Given the description of an element on the screen output the (x, y) to click on. 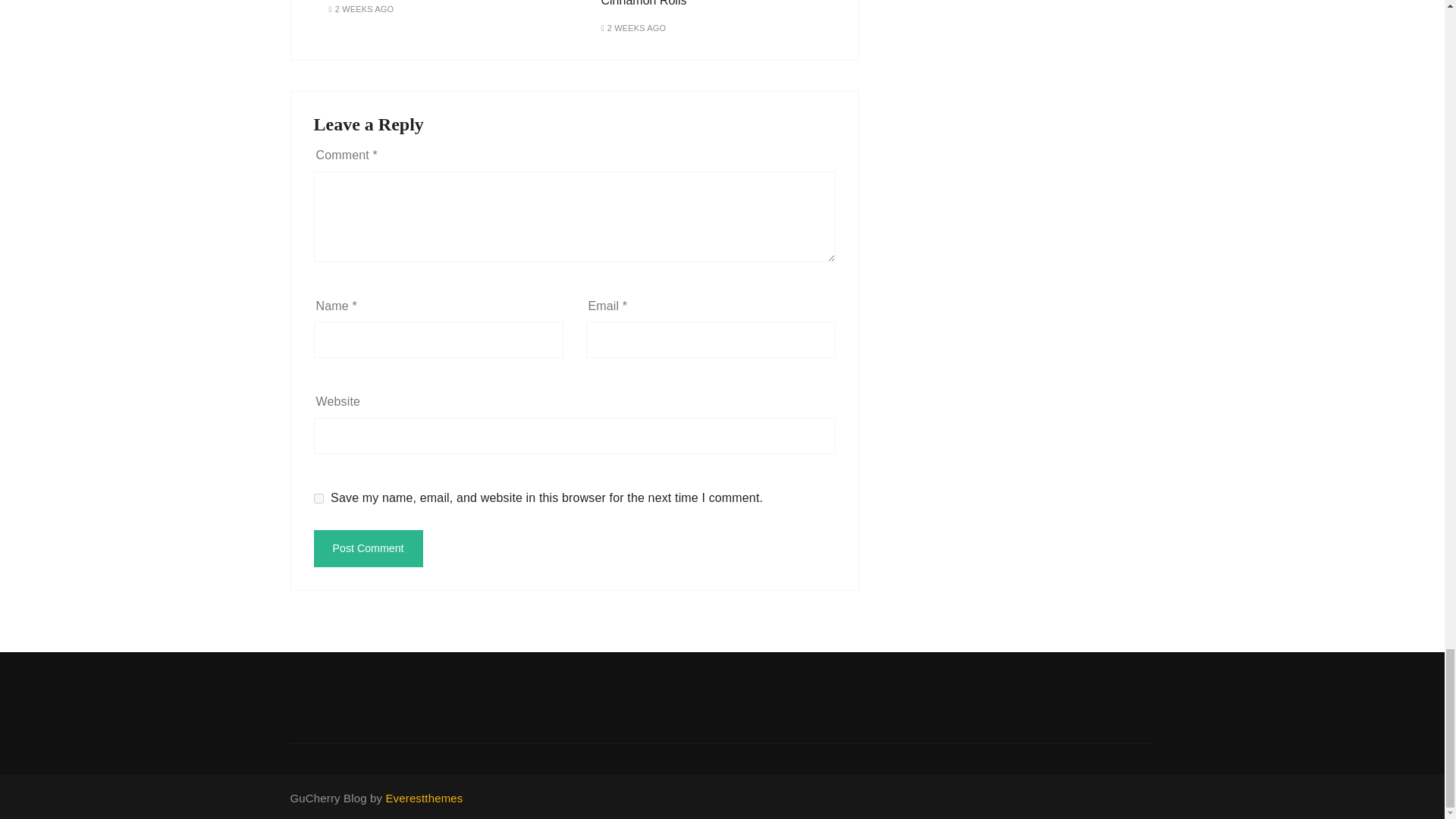
yes (318, 498)
Post Comment (368, 547)
Post Comment (368, 547)
